Given the description of an element on the screen output the (x, y) to click on. 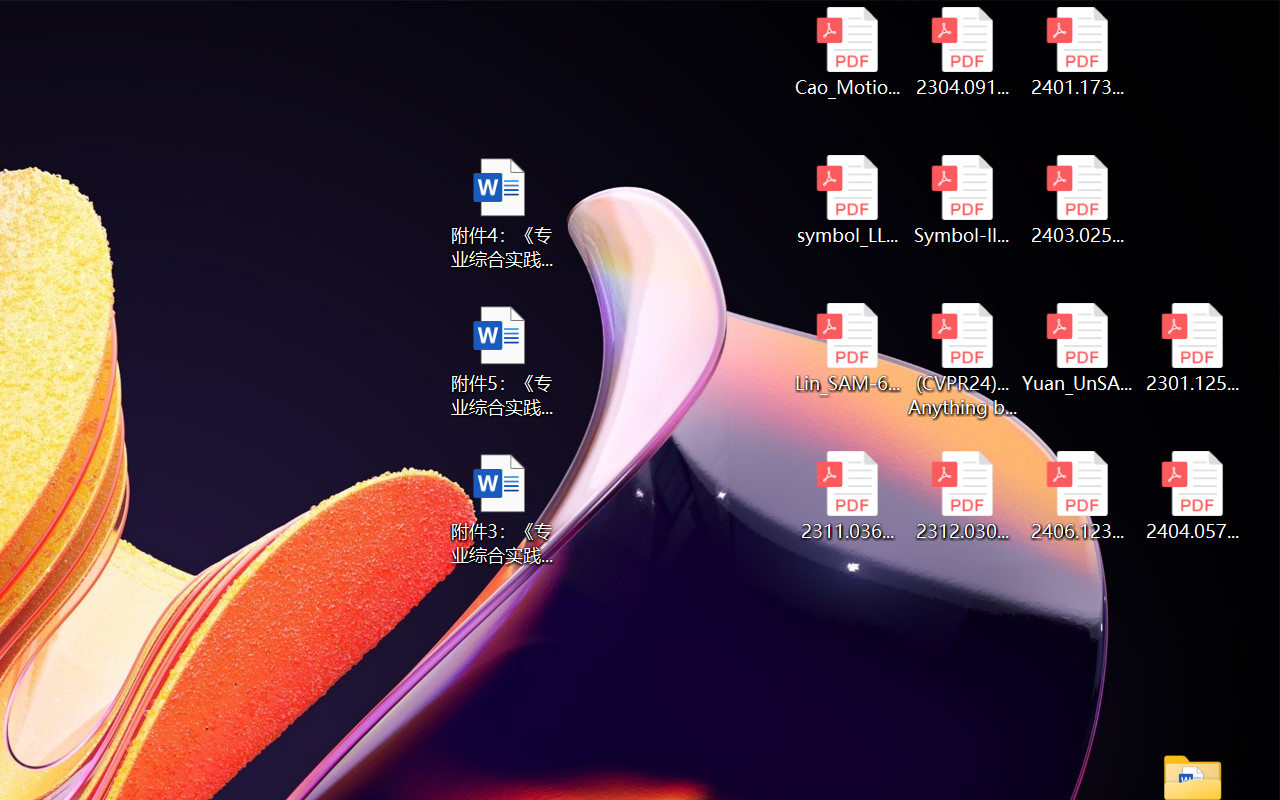
2403.02502v1.pdf (1077, 200)
2301.12597v3.pdf (1192, 348)
Symbol-llm-v2.pdf (962, 200)
2311.03658v2.pdf (846, 496)
2406.12373v2.pdf (1077, 496)
2404.05719v1.pdf (1192, 496)
2401.17399v1.pdf (1077, 52)
2304.09121v3.pdf (962, 52)
(CVPR24)Matching Anything by Segmenting Anything.pdf (962, 360)
symbol_LLM.pdf (846, 200)
